Given the description of an element on the screen output the (x, y) to click on. 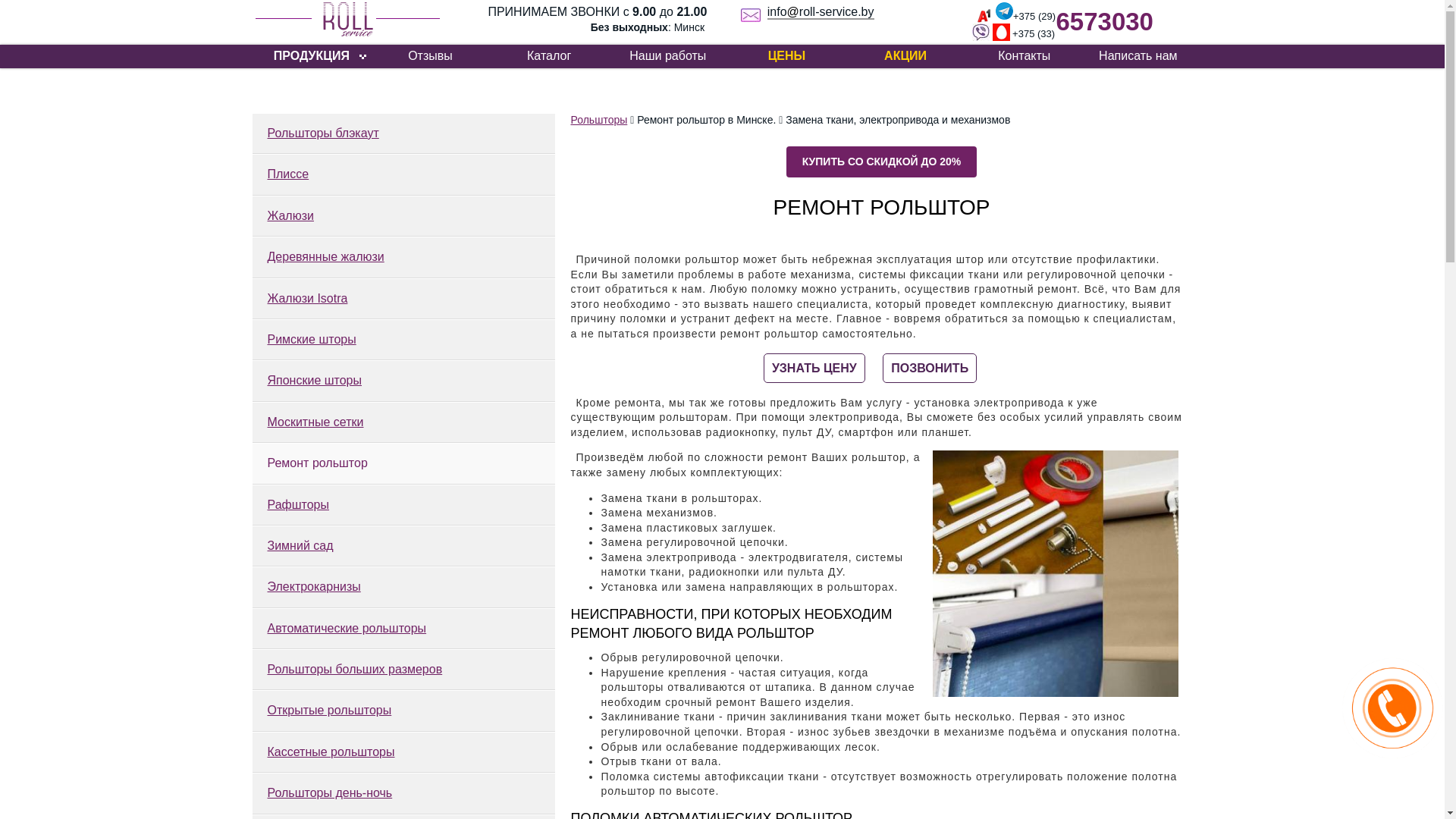
6573030 Element type: text (1103, 21)
@ Element type: text (793, 11)
